Given the description of an element on the screen output the (x, y) to click on. 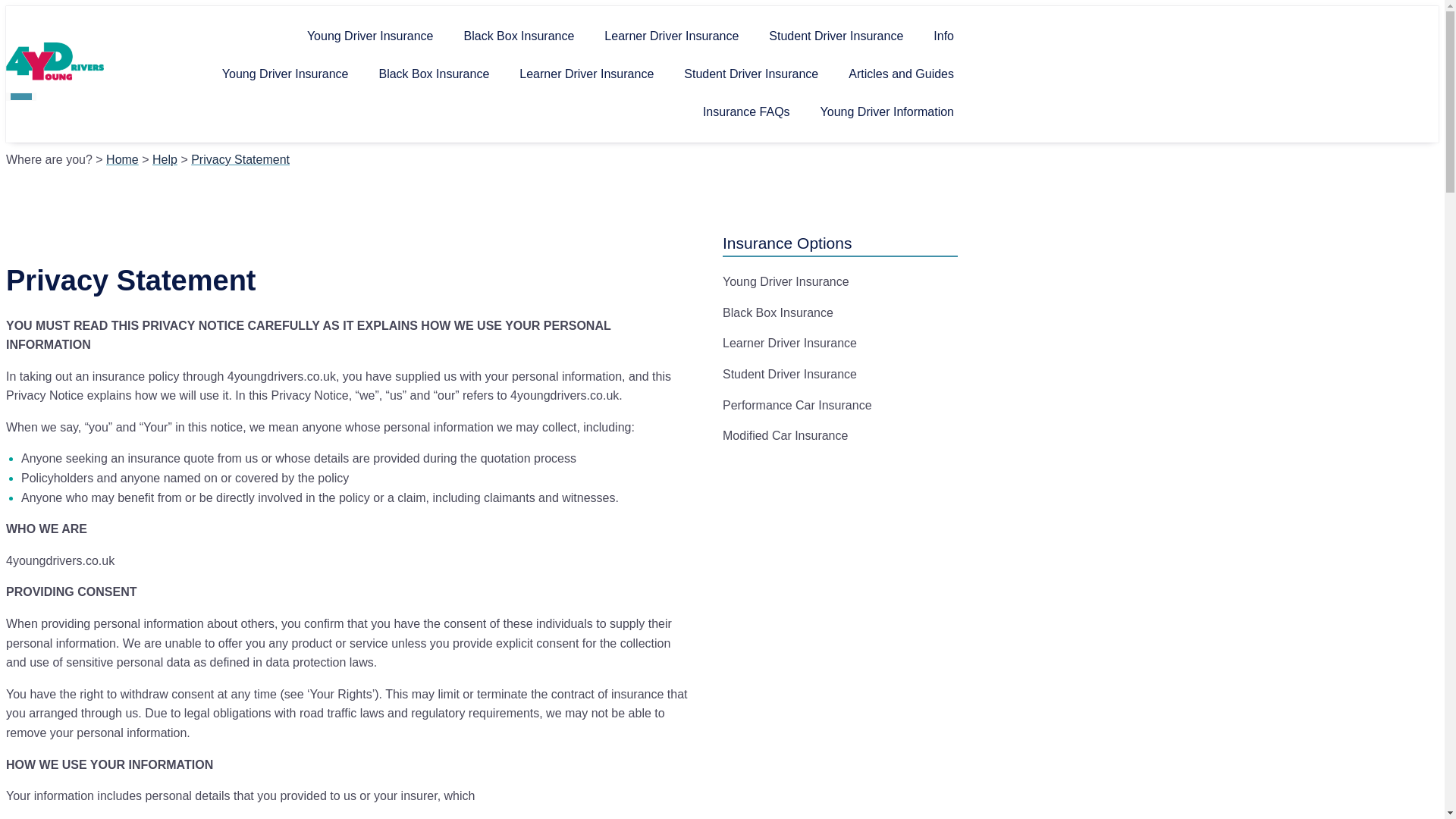
Student Driver Insurance (836, 36)
Insurance FAQs (746, 112)
Young Driver Insurance (785, 281)
Black Box Insurance (432, 74)
Young Driver Information (887, 112)
Home (122, 159)
Black Box Insurance (777, 312)
Privacy Statement (239, 159)
Student Driver Insurance (789, 373)
Young Driver Insurance (370, 36)
Performance Car Insurance (797, 404)
Articles and Guides (900, 74)
Young Driver Insurance (285, 74)
Black Box Insurance (518, 36)
Modified Car Insurance (784, 435)
